Given the description of an element on the screen output the (x, y) to click on. 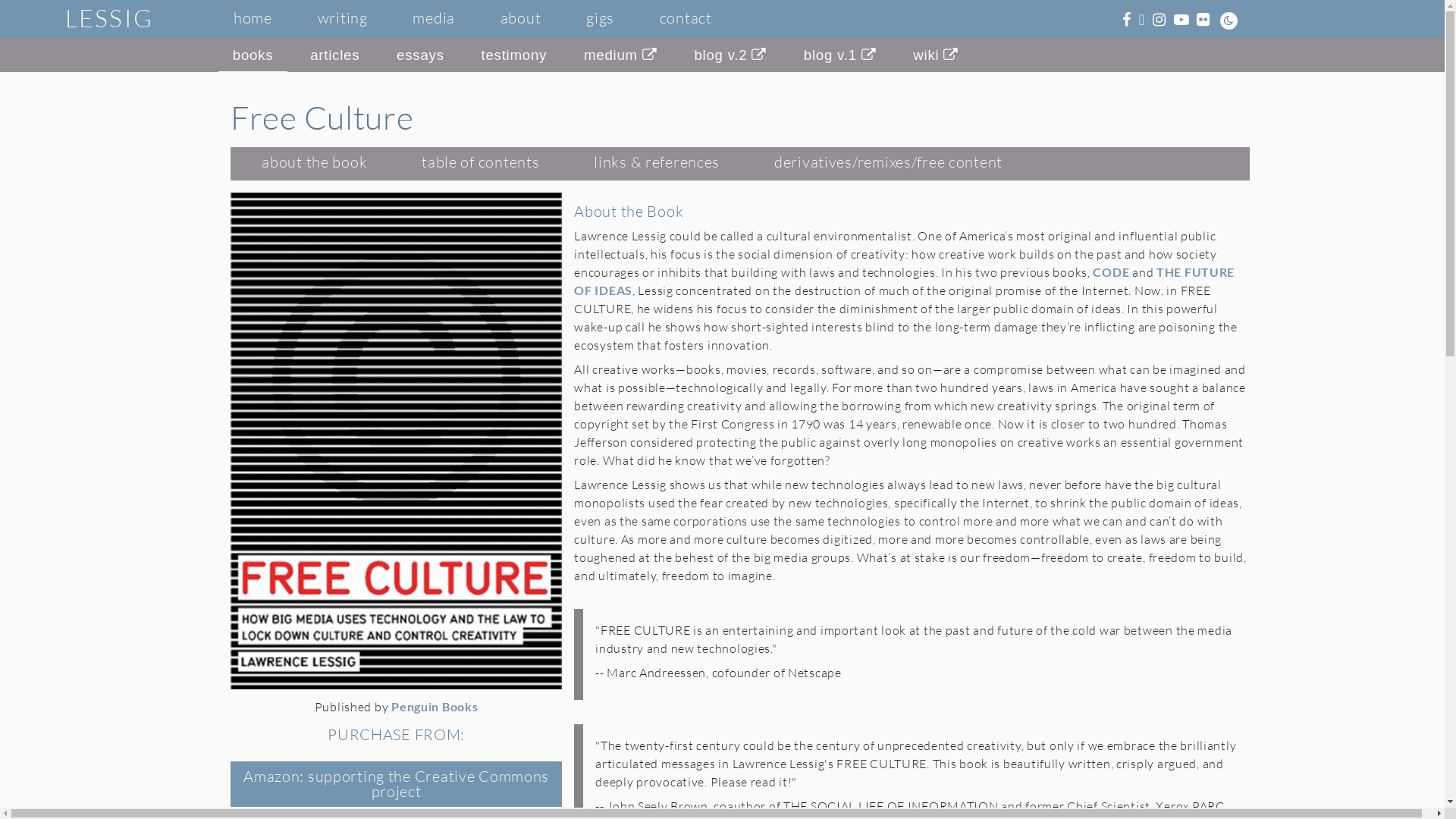
instagram Element type: hover (1159, 19)
dark mode Element type: hover (1228, 20)
writing Element type: text (342, 20)
essays Element type: text (420, 56)
about the book Element type: text (314, 164)
flickr Element type: hover (1203, 19)
testimony Element type: text (514, 56)
home Element type: text (252, 20)
wiki Element type: text (935, 56)
blog v.1 Element type: text (839, 56)
gigs Element type: text (600, 20)
about Element type: text (520, 20)
Amazon: supporting the Creative Commons project Element type: text (395, 783)
medium Element type: text (620, 56)
youtube Element type: hover (1181, 19)
THE FUTURE OF IDEAS Element type: text (904, 280)
CODE Element type: text (1110, 271)
contact Element type: text (685, 20)
LESSIG Element type: text (109, 18)
blog v.2 Element type: text (730, 56)
books Element type: text (252, 56)
facebook Element type: hover (1126, 19)
articles Element type: text (334, 56)
Penguin Books Element type: text (434, 706)
media Element type: text (433, 20)
derivatives/remixes/free content Element type: text (888, 164)
links & references Element type: text (656, 164)
table of contents Element type: text (480, 164)
